Given the description of an element on the screen output the (x, y) to click on. 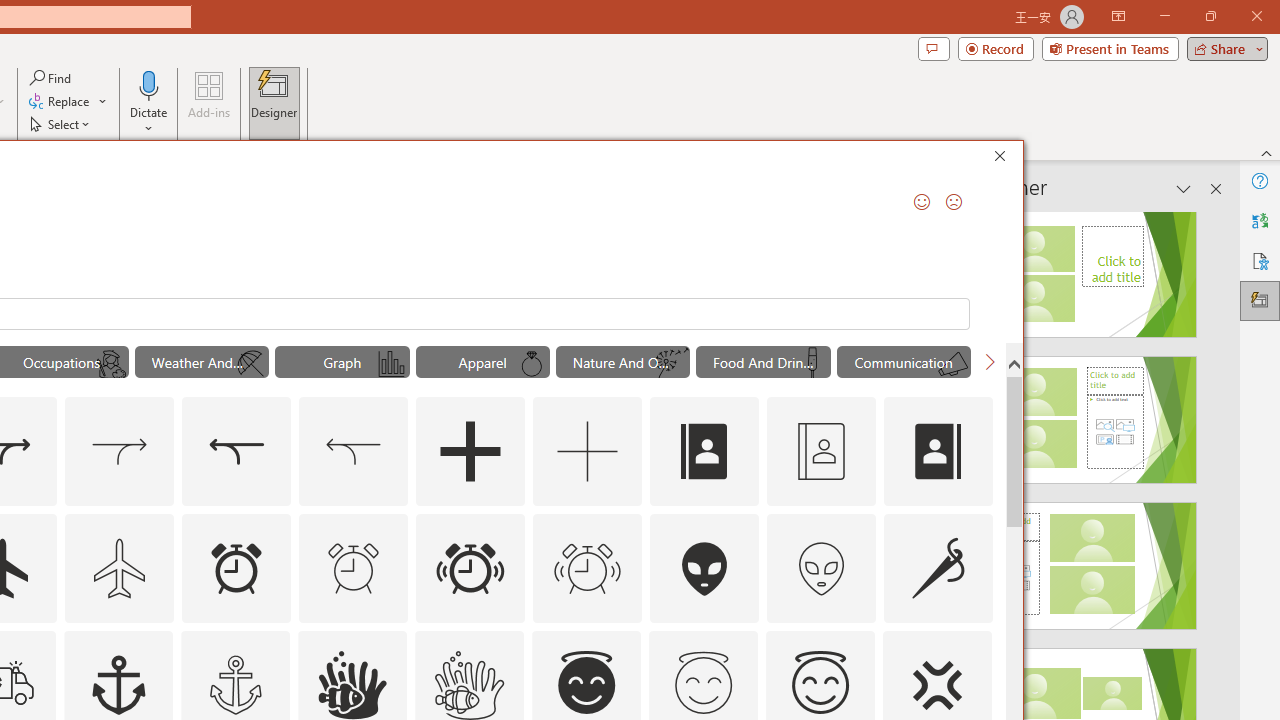
Send a Frown (954, 201)
AutomationID: Icons_Megaphone_M (952, 364)
AutomationID: Icons_AlarmRinging (470, 568)
AutomationID: Icons_Acquisition_RTL (236, 452)
AutomationID: Icons_AlarmClock_M (353, 568)
